Given the description of an element on the screen output the (x, y) to click on. 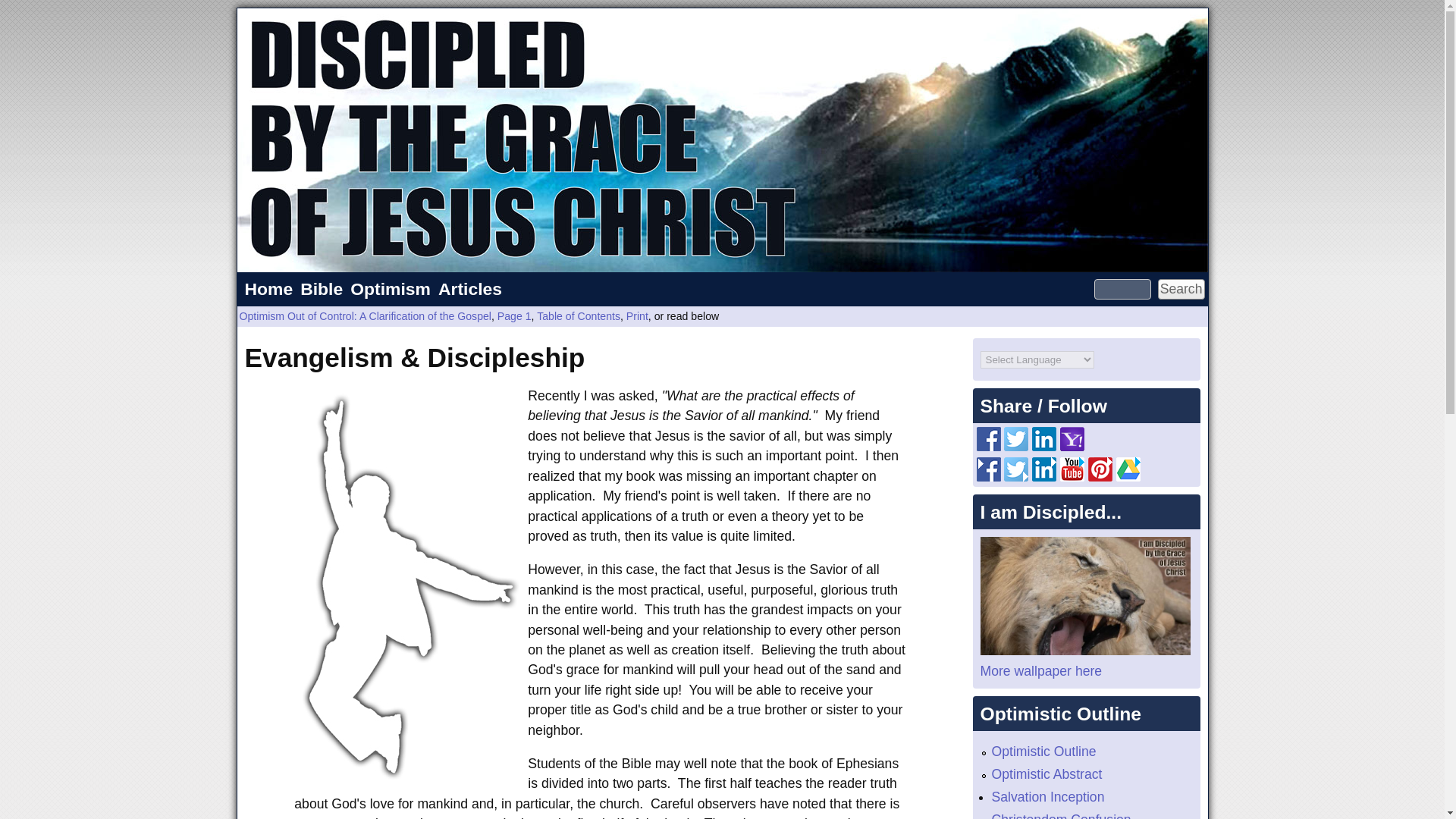
Visit My Pinterest (1099, 476)
Aionian Bible - The World's First Bible Untranslation (321, 288)
Visit My Facebook (988, 476)
Share on Facebook (988, 446)
Enter the terms you wish to search for. (1122, 289)
Articles (469, 288)
Optimism (389, 288)
Print (636, 316)
Optimism Out of Control: A Clarification of the Gospel (366, 316)
Page 1 (514, 316)
Search (1181, 289)
Share this on Twitter (1015, 446)
Home (269, 288)
Visit My Twitter (1015, 476)
